Given the description of an element on the screen output the (x, y) to click on. 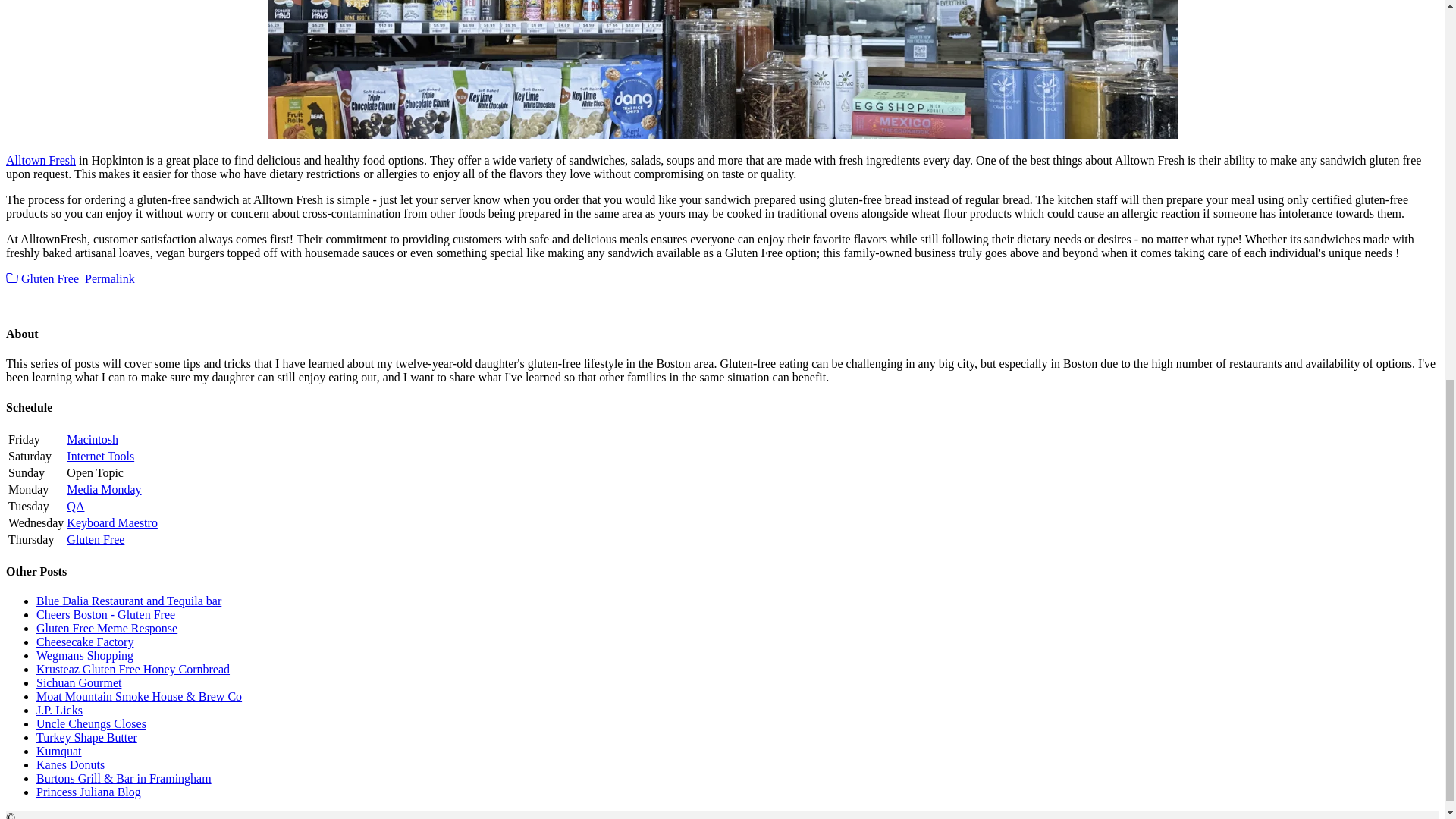
Blue Dalia Restaurant and Tequila bar (128, 600)
Kumquat (58, 750)
Wegmans Shopping (84, 655)
Turkey Shape Butter (86, 737)
Gluten Free (41, 278)
Gluten Free (94, 539)
Macintosh (91, 439)
J.P. Licks (59, 709)
Krusteaz Gluten Free Honey Cornbread (133, 668)
Kanes Donuts (70, 764)
